Given the description of an element on the screen output the (x, y) to click on. 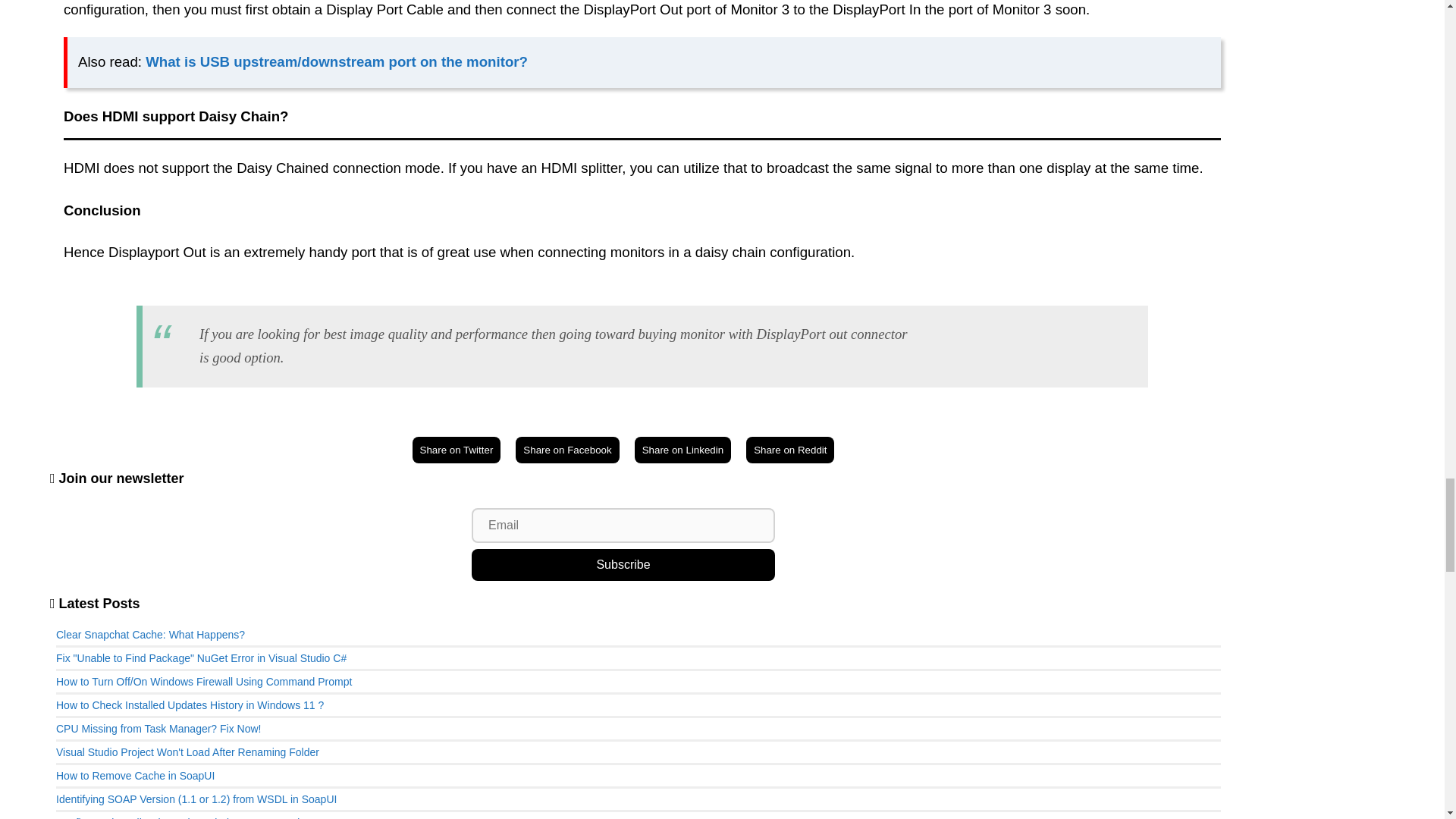
How to Check Installed Updates History in Windows 11 ? (189, 705)
Clear Snapchat Cache: What Happens? (150, 634)
How to Remove Cache in SoapUI (135, 775)
Visual Studio Project Won't Load After Renaming Folder (187, 752)
Subscribe (622, 564)
Share on Facebook (566, 449)
Subscribe (622, 564)
Share on Linkedin (682, 449)
CPU Missing from Task Manager? Fix Now! (158, 728)
